Given the description of an element on the screen output the (x, y) to click on. 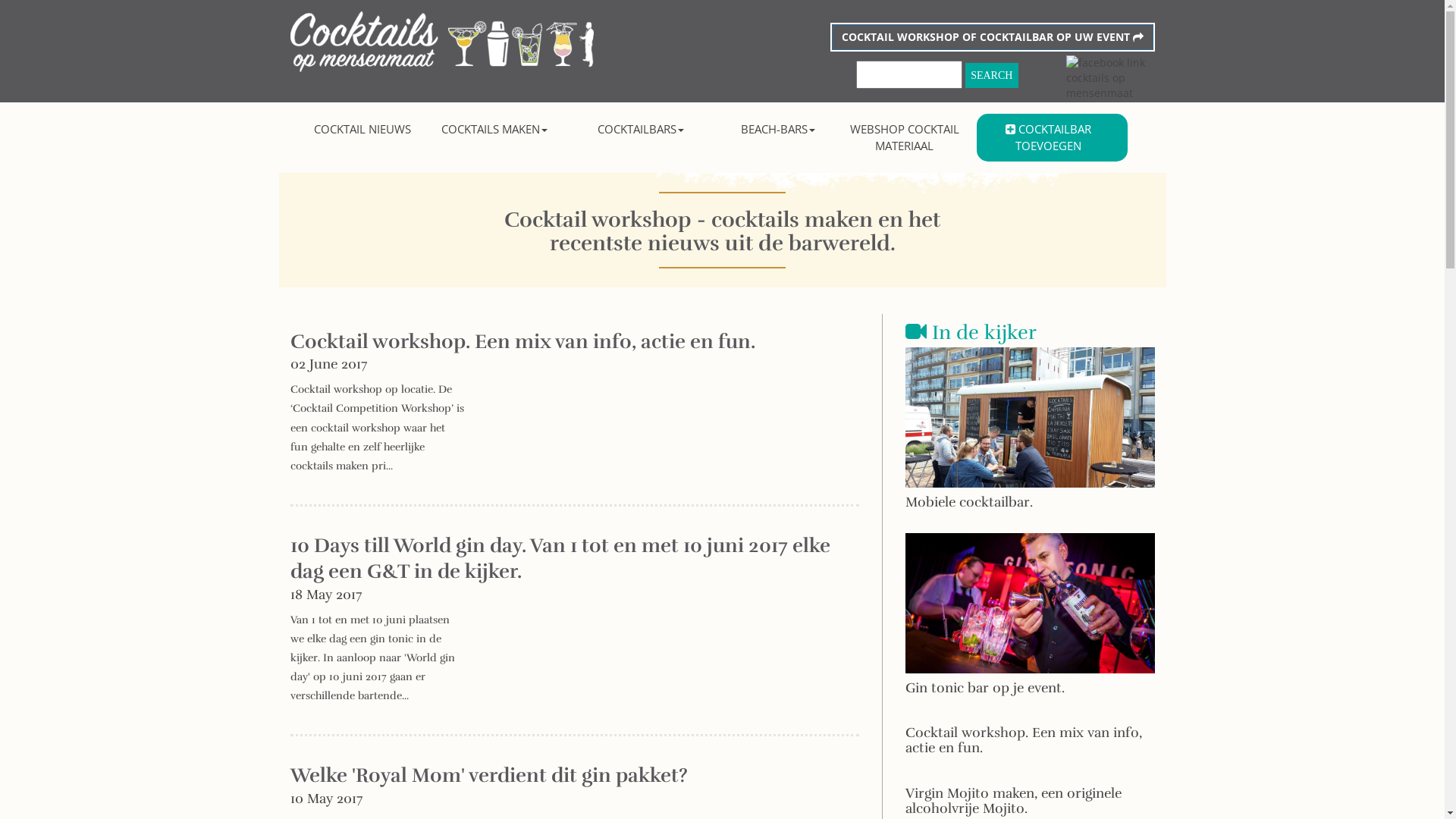
COCKTAIL WORKSHOP OF COCKTAILBAR OP UW EVENT Element type: text (991, 37)
Mobiele cocktailbar. Element type: text (1029, 439)
Search Element type: text (991, 74)
BEACH-BARS Element type: text (777, 128)
COCKTAILBARS Element type: text (640, 128)
Gin tonic bar op je event. Element type: text (1029, 625)
COCKTAIL NIEUWS Element type: text (362, 128)
COCKTAILBAR TOEVOEGEN Element type: text (1048, 137)
WEBSHOP COCKTAIL MATERIAAL Element type: text (904, 137)
COCKTAILS MAKEN Element type: text (494, 128)
Cocktail workshop. Een mix van info, actie en fun. Element type: text (1029, 747)
